Given the description of an element on the screen output the (x, y) to click on. 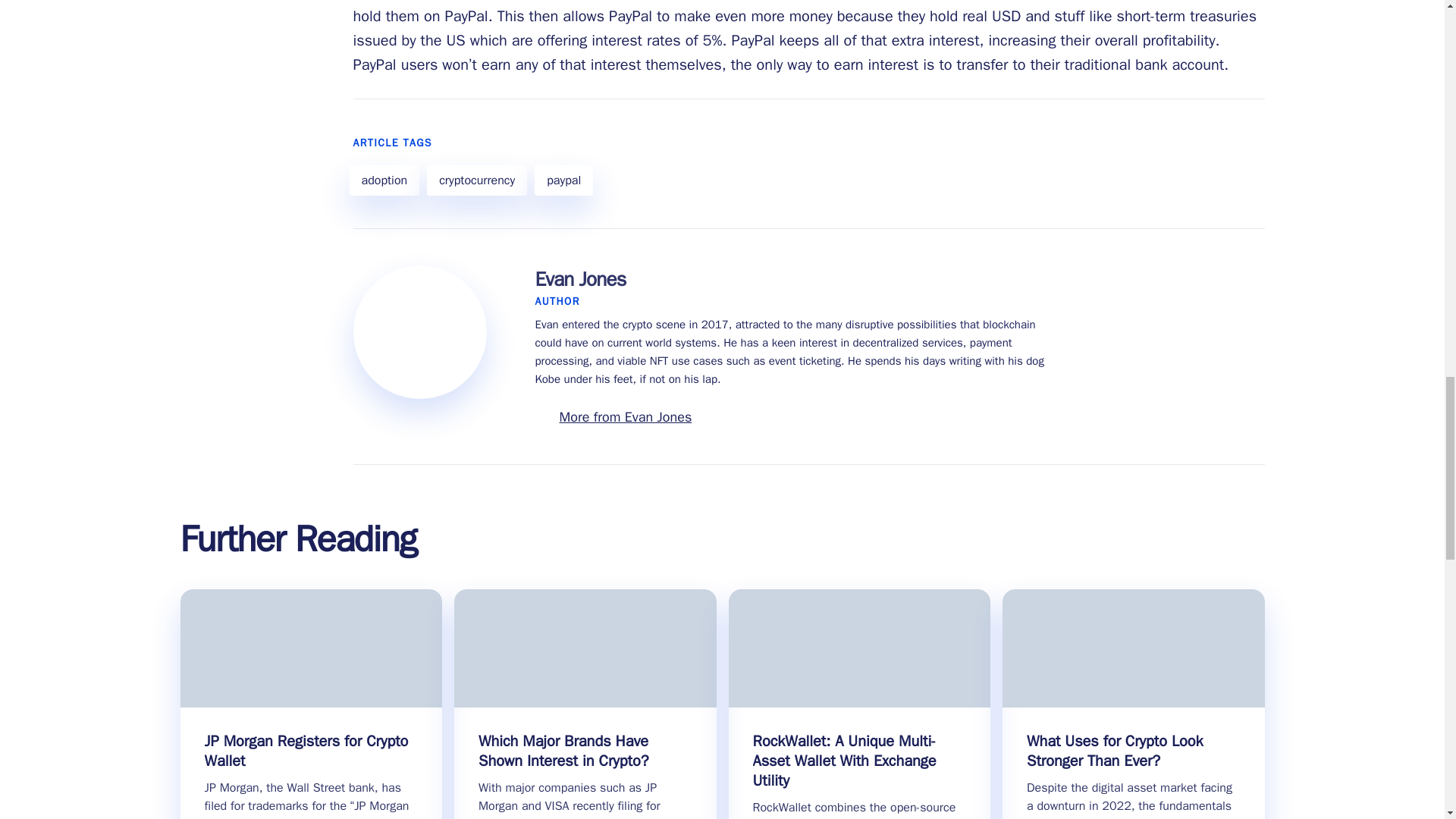
What Uses for Crypto Look Stronger Than Ever? (1133, 751)
More from Evan Jones (626, 416)
Which Major Brands Have Shown Interest in Crypto? (586, 751)
JP Morgan Registers for Crypto Wallet (312, 751)
JP Morgan Registers for Crypto Wallet (312, 751)
What Uses for Crypto Look Stronger Than Ever? (1133, 751)
Which Major Brands Have Shown Interest in Crypto? (586, 751)
